Given the description of an element on the screen output the (x, y) to click on. 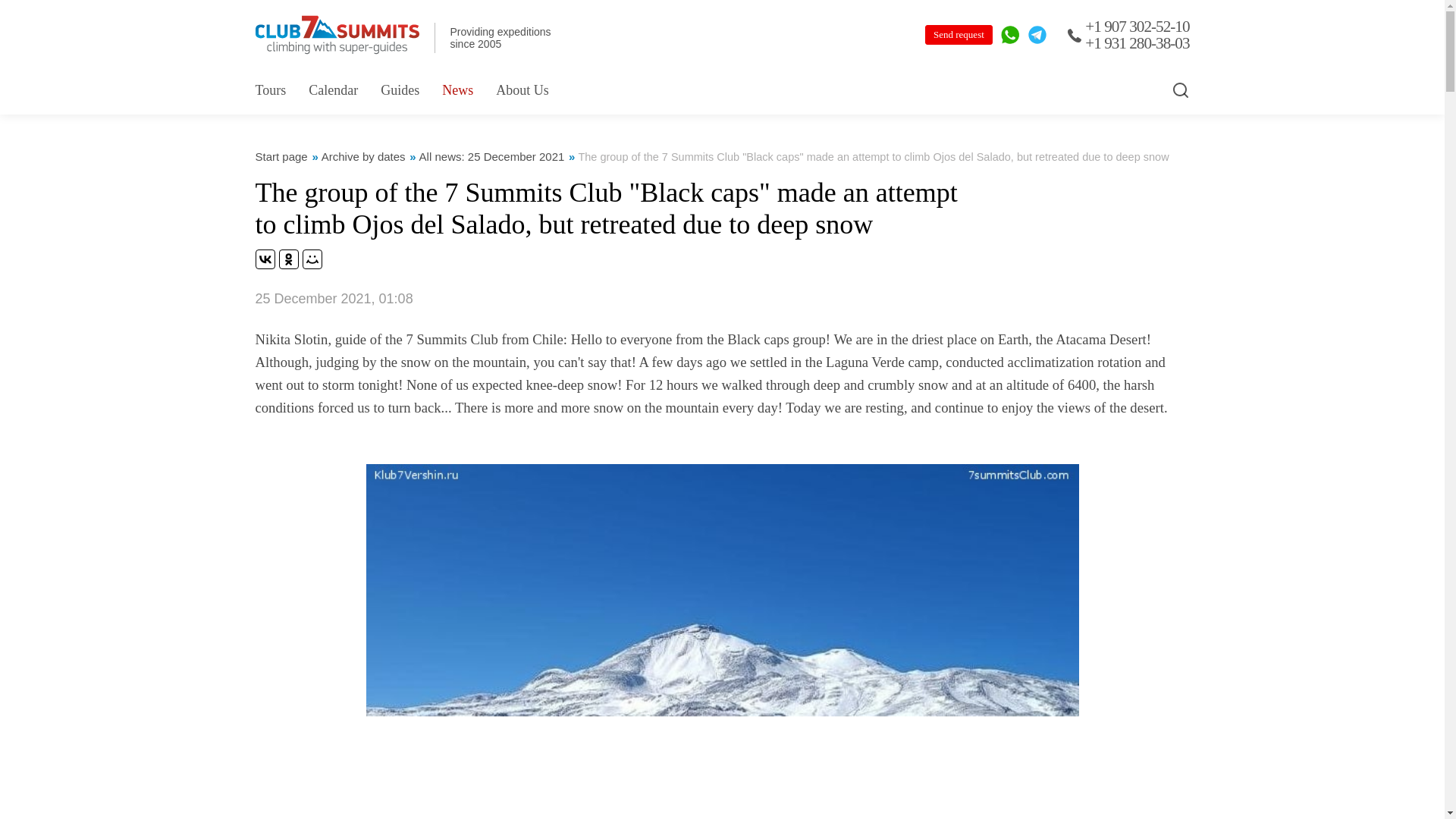
Guides (399, 89)
About Us (522, 89)
Send request (958, 35)
News (457, 89)
Calendar (333, 89)
All news: 25 December 2021 (491, 155)
Start page (280, 155)
Archive by dates (363, 155)
Tours (269, 89)
